Given the description of an element on the screen output the (x, y) to click on. 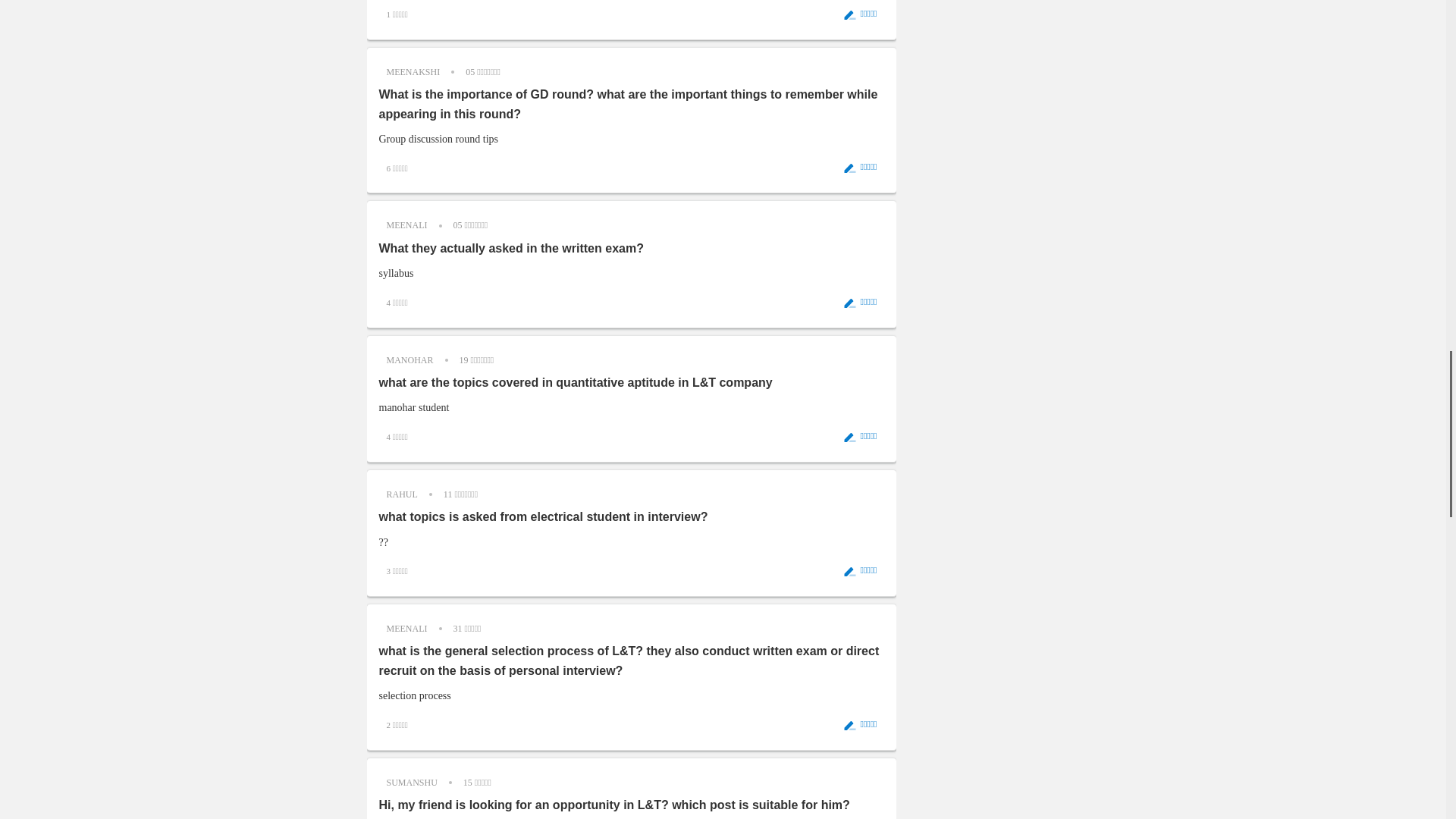
Manohar Babu (409, 360)
Meenakshi Kararia (413, 71)
Meenali Sharma (406, 225)
Rahul Singh Yadav (401, 493)
Meenali Sharma (406, 628)
